Given the description of an element on the screen output the (x, y) to click on. 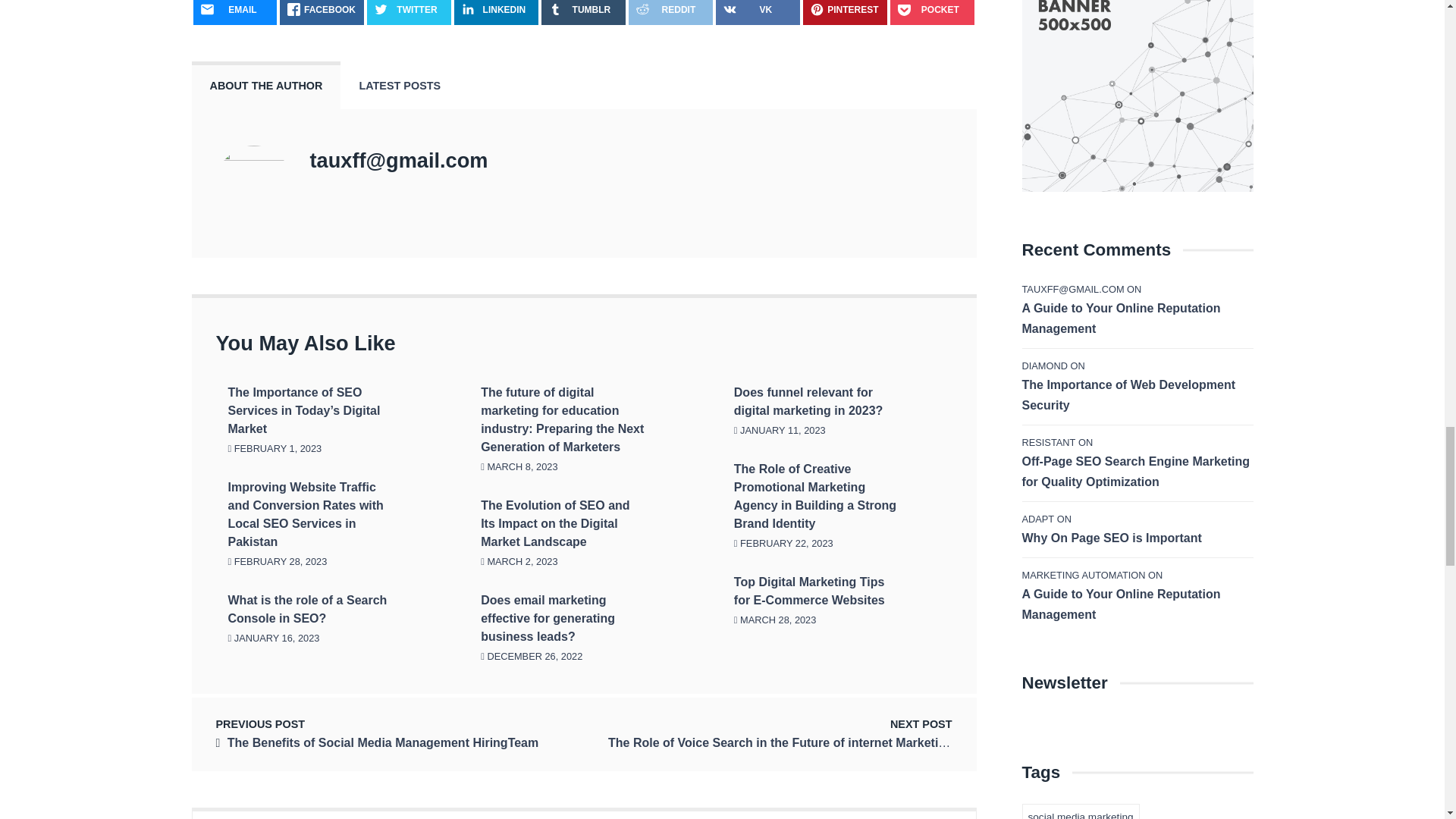
POCKET (931, 12)
TWITTER (408, 12)
EMAIL (234, 12)
PINTEREST (844, 12)
FACEBOOK (321, 12)
LINKEDIN (496, 12)
REDDIT (670, 12)
VK (757, 12)
LATEST POSTS (399, 85)
TUMBLR (583, 12)
